Given the description of an element on the screen output the (x, y) to click on. 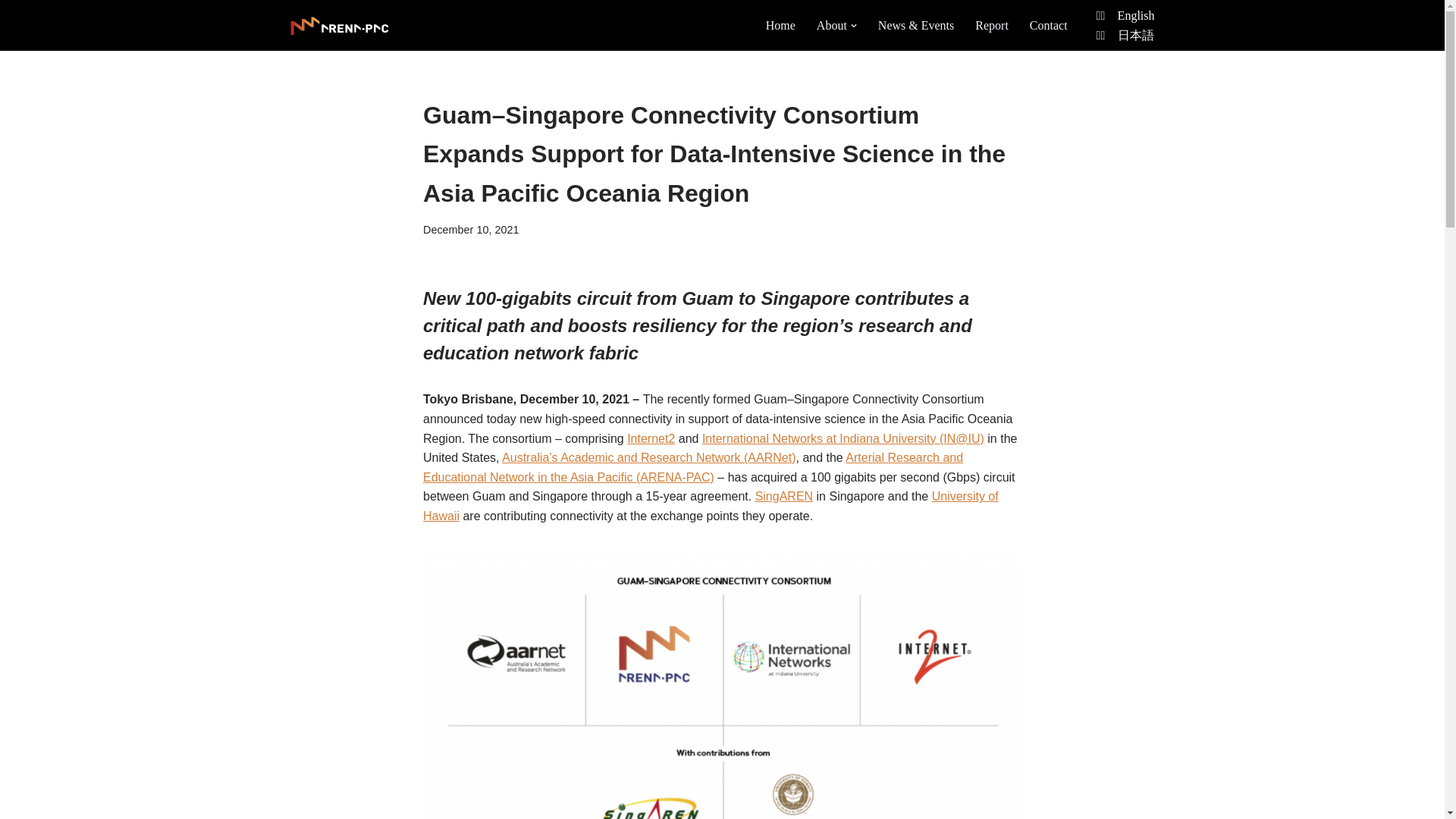
About (831, 25)
Contact (1048, 25)
Report (992, 25)
English (1136, 15)
Internet2 (651, 438)
Japanese (1136, 34)
English (1136, 15)
Home (779, 25)
University of Hawaii (710, 505)
SingAREN (783, 495)
